Given the description of an element on the screen output the (x, y) to click on. 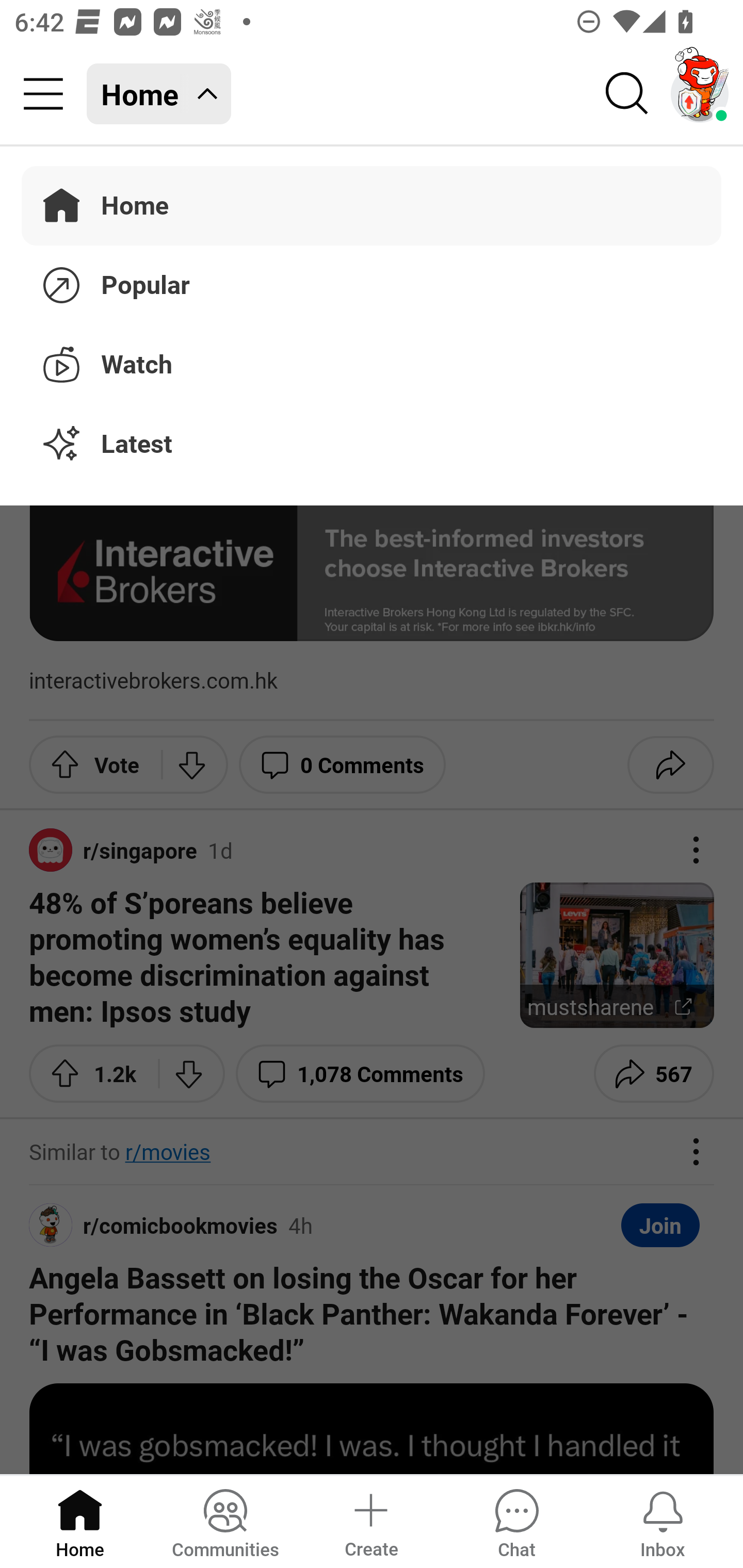
Community menu (43, 93)
Home Home feed (158, 93)
Search (626, 93)
TestAppium002 account (699, 93)
Popular Popular feed (371, 281)
Watch Watch feed (371, 361)
Latest Latest feed (371, 444)
Home (80, 1520)
Communities (225, 1520)
Create a post Create (370, 1520)
Chat (516, 1520)
Inbox (662, 1520)
